Given the description of an element on the screen output the (x, y) to click on. 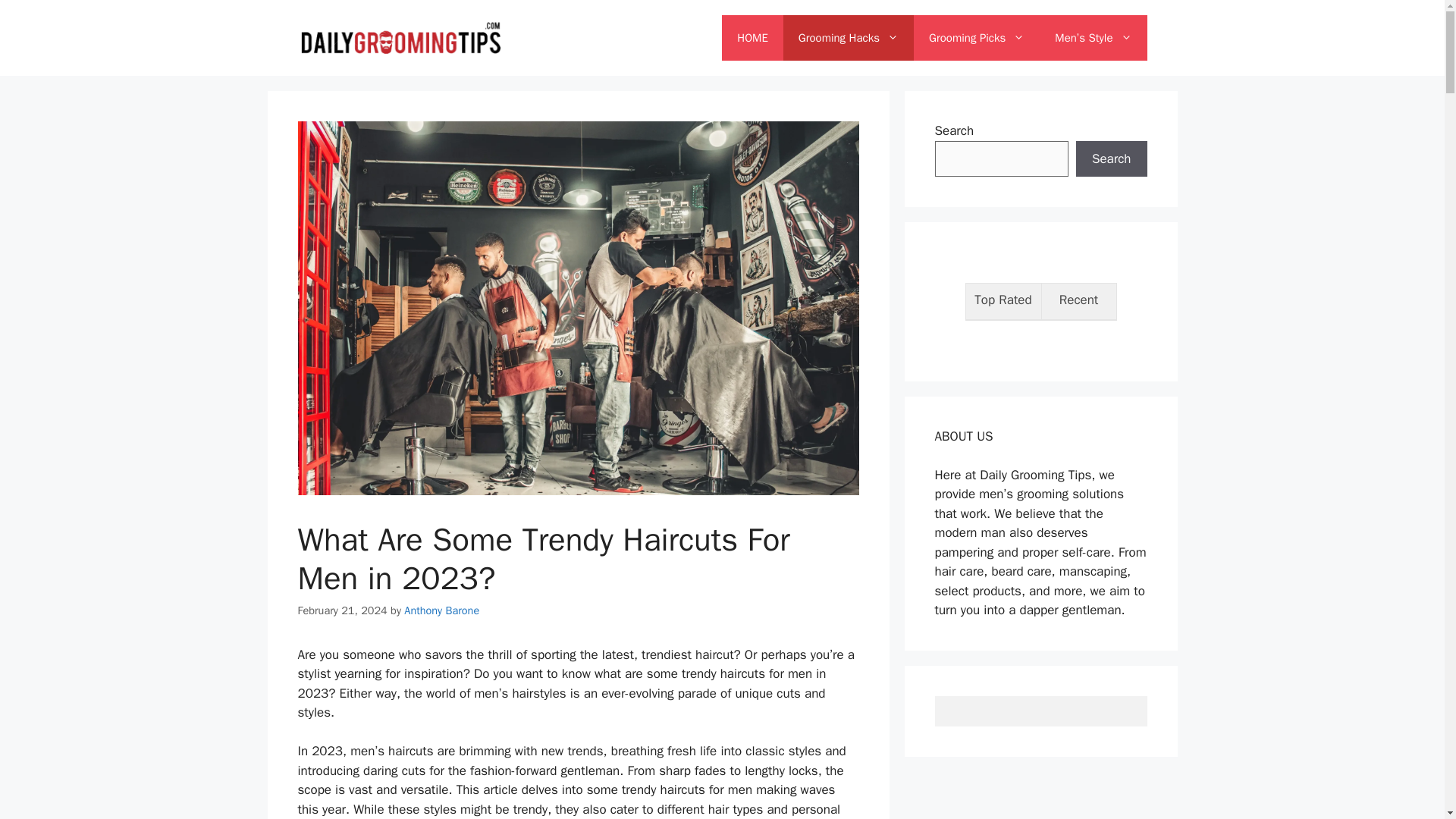
View all posts by Anthony Barone (441, 610)
Grooming Hacks (848, 37)
HOME (752, 37)
Grooming Picks (976, 37)
Anthony Barone (441, 610)
